Given the description of an element on the screen output the (x, y) to click on. 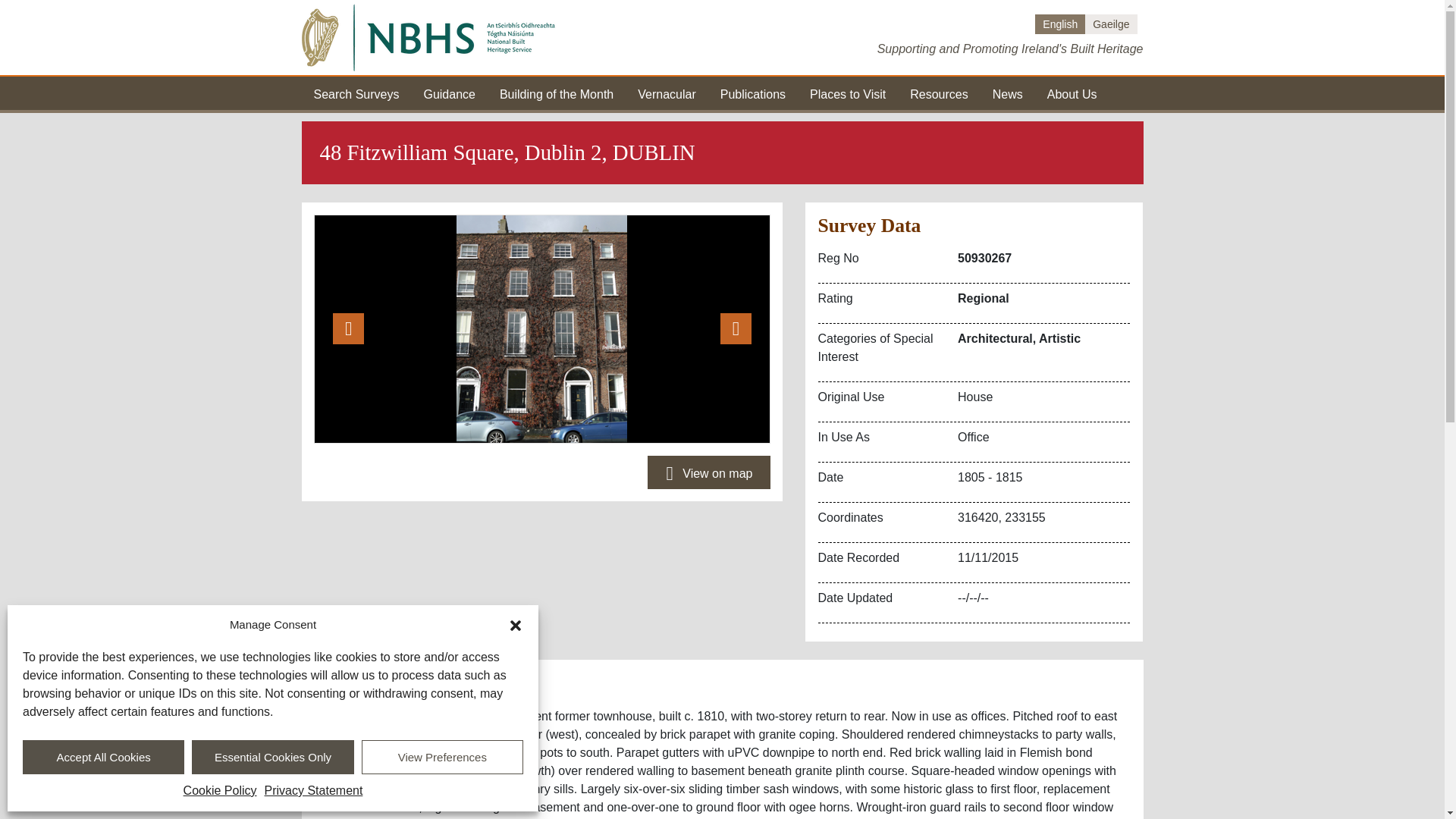
Privacy Statement (313, 791)
News (1007, 92)
Publications (753, 92)
Accept All Cookies (103, 756)
Gaeilge (1110, 24)
Search Surveys (356, 92)
Essential Cookies Only (272, 756)
View on map (708, 471)
Vernacular (666, 92)
Resources (939, 92)
English (1059, 24)
Guidance (449, 92)
Building of the Month (555, 92)
View Preferences (441, 756)
About Us (1071, 92)
